Given the description of an element on the screen output the (x, y) to click on. 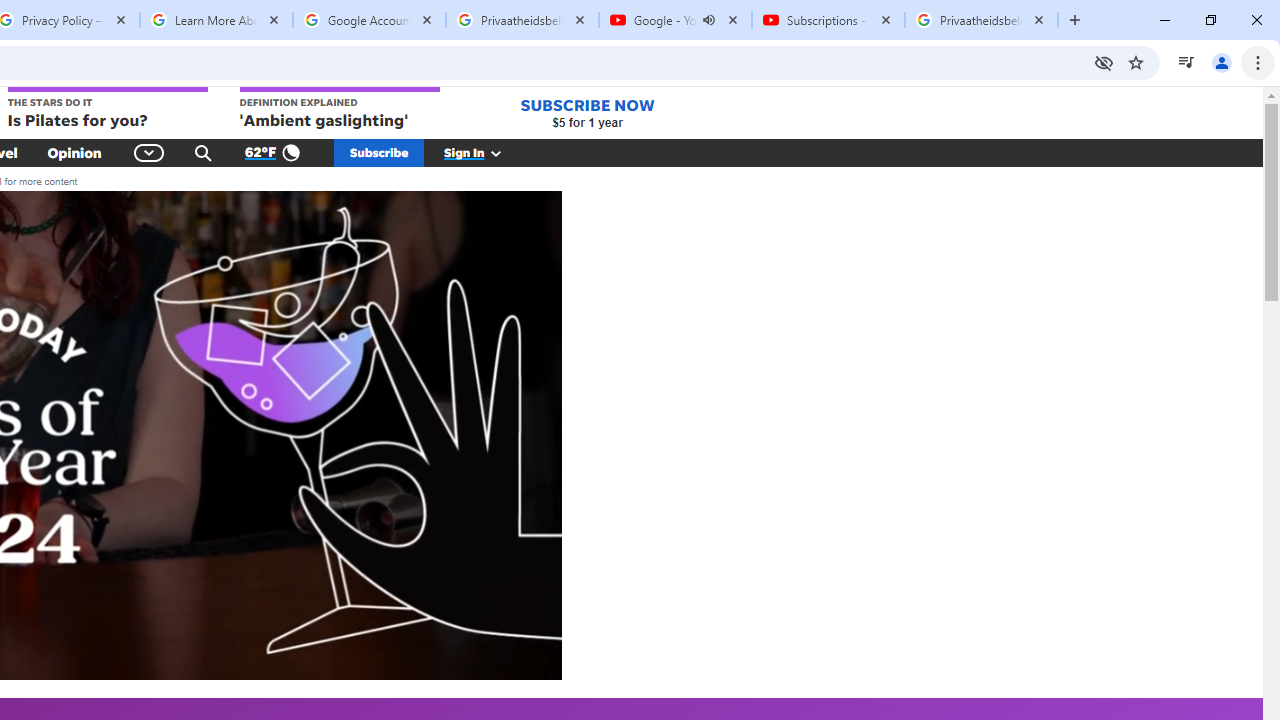
Subscribe (379, 152)
SUBSCRIBE NOW $5 for 1 year (587, 112)
Global Navigation (149, 152)
Sign In (483, 152)
Google - YouTube - Audio playing (675, 20)
DEFINITION EXPLAINED 'Ambient gaslighting' (339, 109)
